Given the description of an element on the screen output the (x, y) to click on. 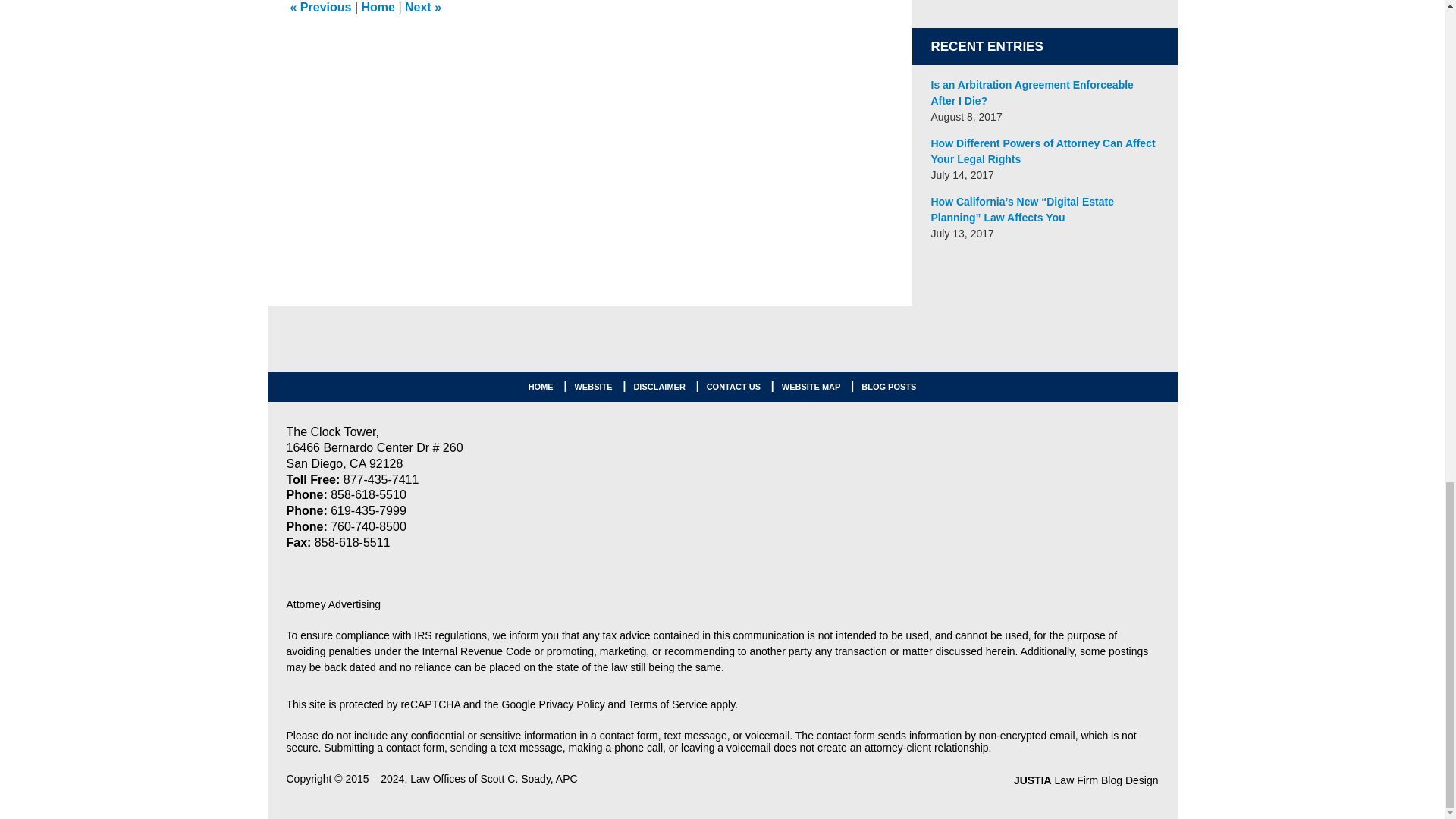
Should I Write My Own Will? (319, 6)
Dealing With Break Ups in Your Estate Plan (422, 6)
Home (377, 6)
